Given the description of an element on the screen output the (x, y) to click on. 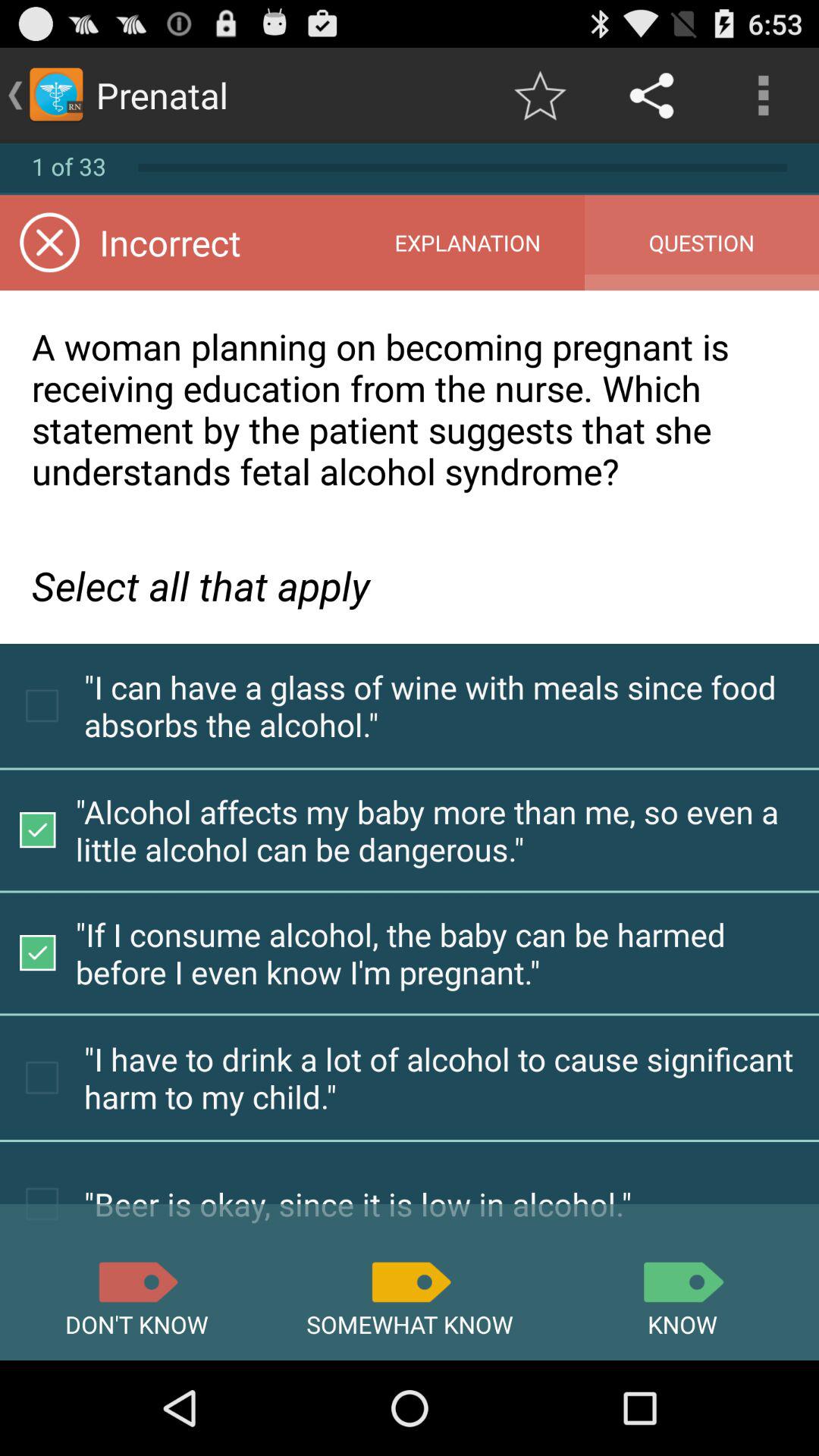
turn on item next to incorrect (467, 242)
